Given the description of an element on the screen output the (x, y) to click on. 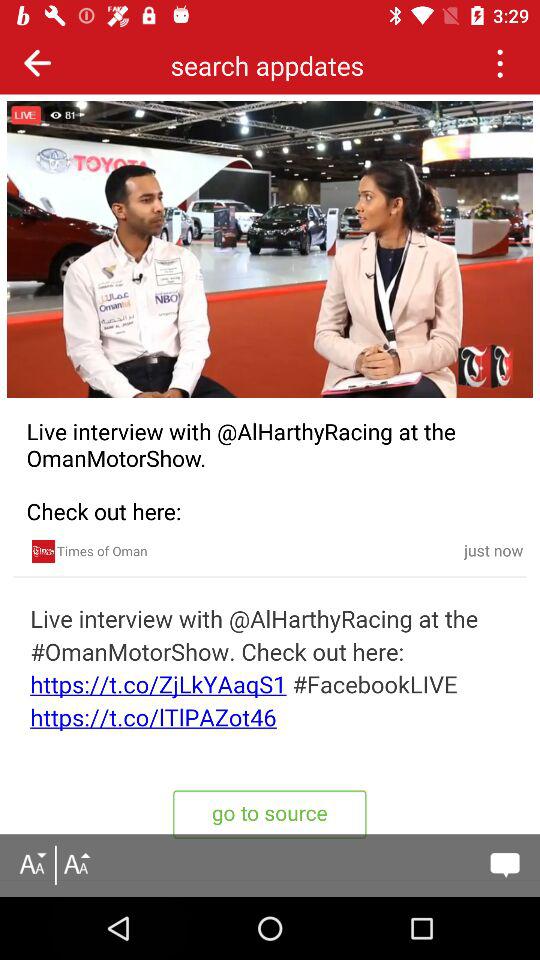
comment option display the bottom of the screen (504, 865)
